Given the description of an element on the screen output the (x, y) to click on. 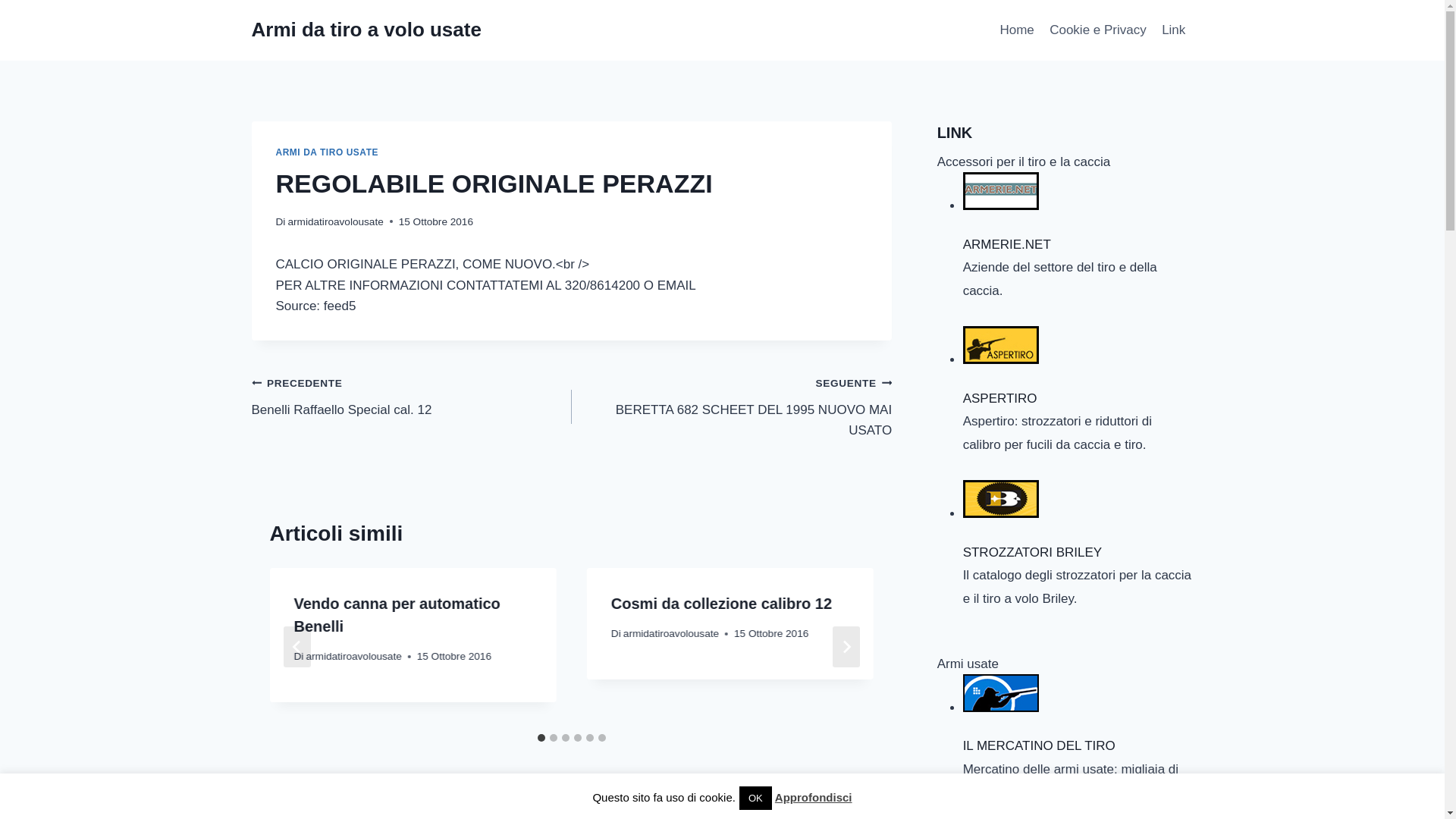
Link (1173, 30)
ASPERTIRO (1077, 353)
IL MERCATINO DEL TIRO (411, 396)
IL MERCATINO DEL TIRO (1077, 702)
ARMERIE.NET (1000, 692)
STROZZATORI BRILEY (1000, 190)
ARMERIE.NET (1077, 507)
ASPERTIRO (1077, 199)
ARMI DA TIRO USATE (1000, 344)
armidatiroavolousate (327, 152)
armidatiroavolousate (336, 221)
